Given the description of an element on the screen output the (x, y) to click on. 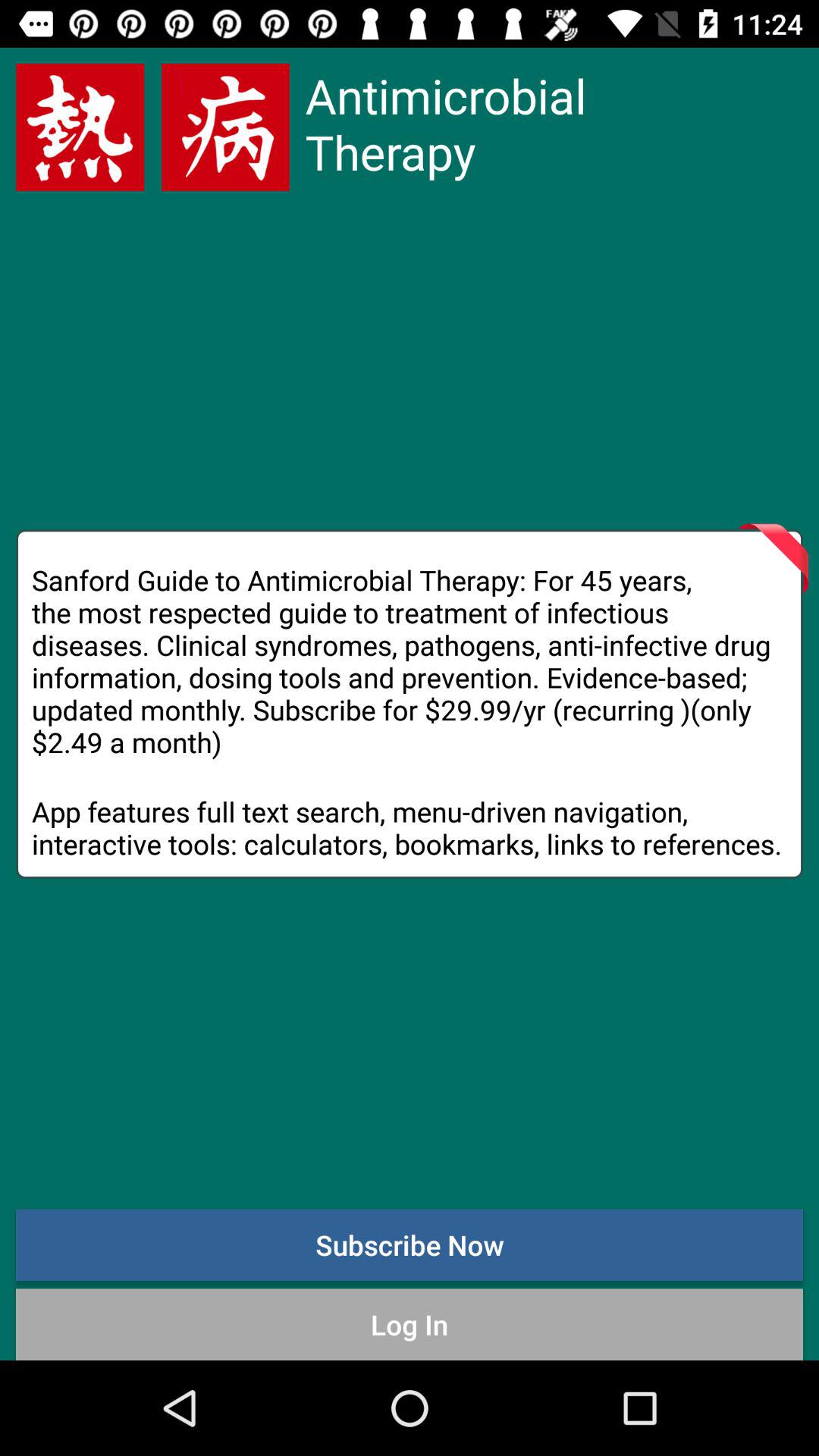
choose the log in (409, 1324)
